Given the description of an element on the screen output the (x, y) to click on. 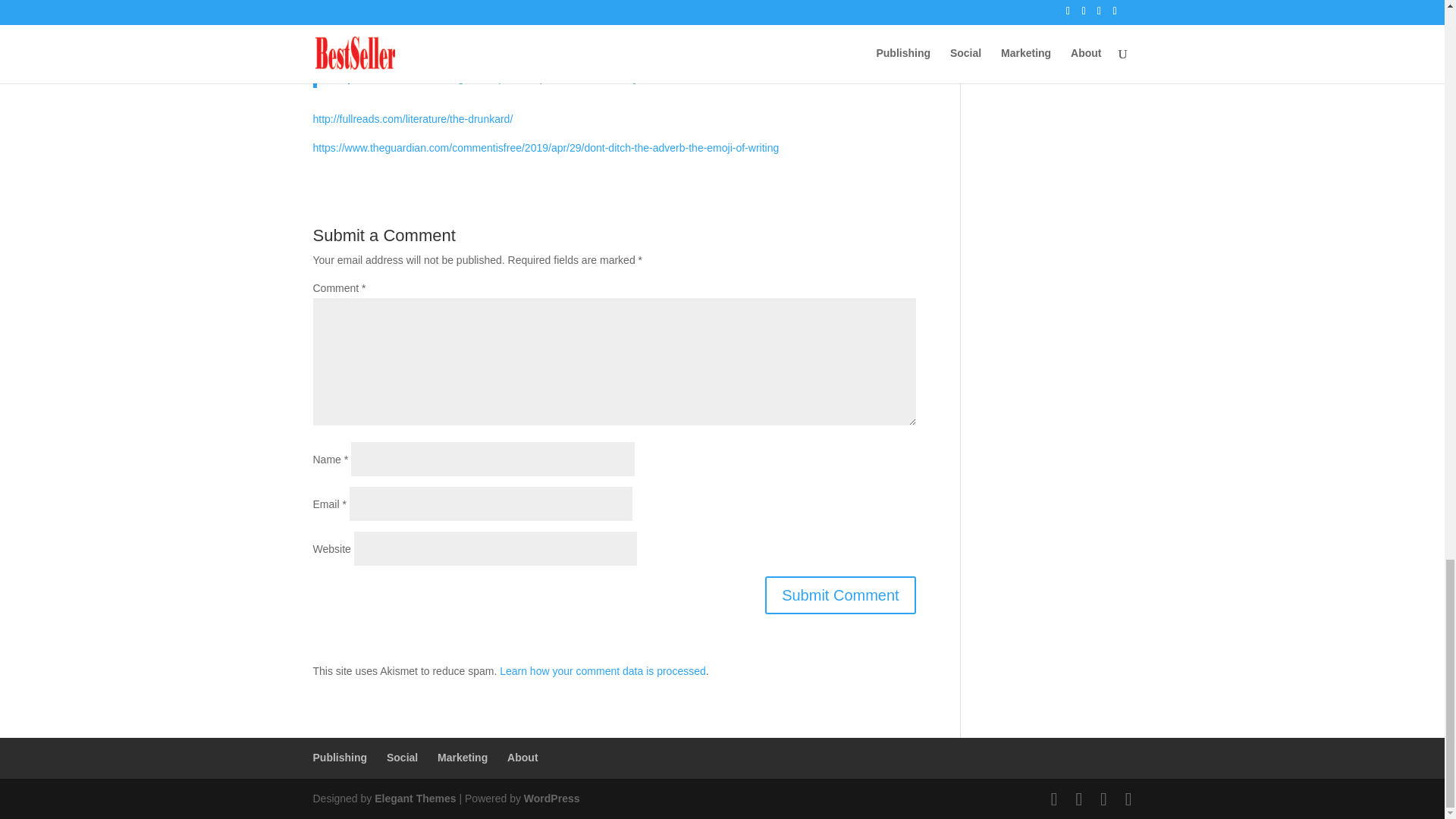
Social (402, 757)
Submit Comment (840, 595)
Premium WordPress Themes (414, 798)
Marketing (462, 757)
About (521, 757)
Learn how your comment data is processed (602, 671)
Submit Comment (840, 595)
Publishing (339, 757)
Elegant Themes (414, 798)
WordPress (551, 798)
